Given the description of an element on the screen output the (x, y) to click on. 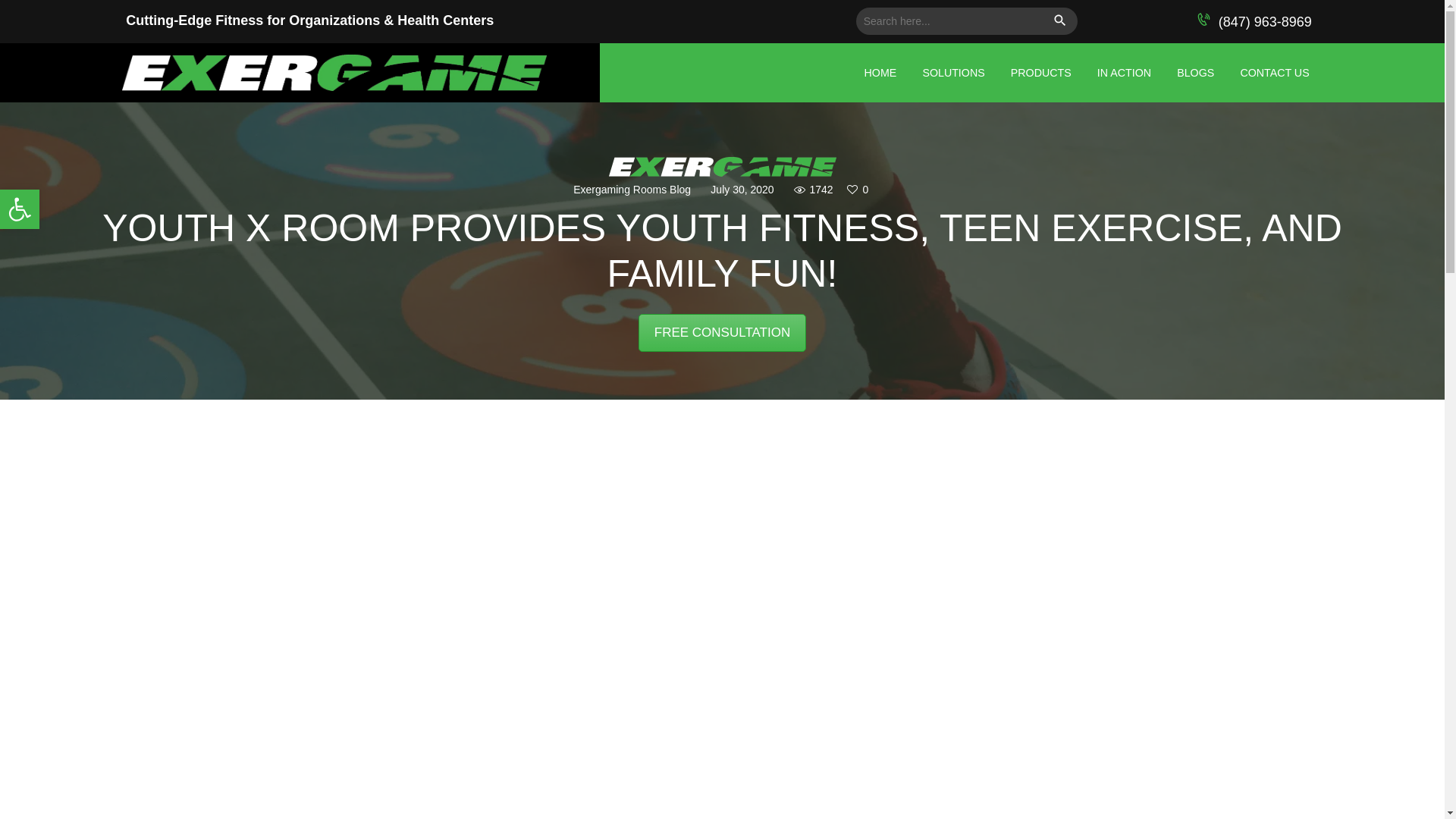
logo (19, 209)
Decrease Text (721, 166)
High Contrast (19, 209)
